Given the description of an element on the screen output the (x, y) to click on. 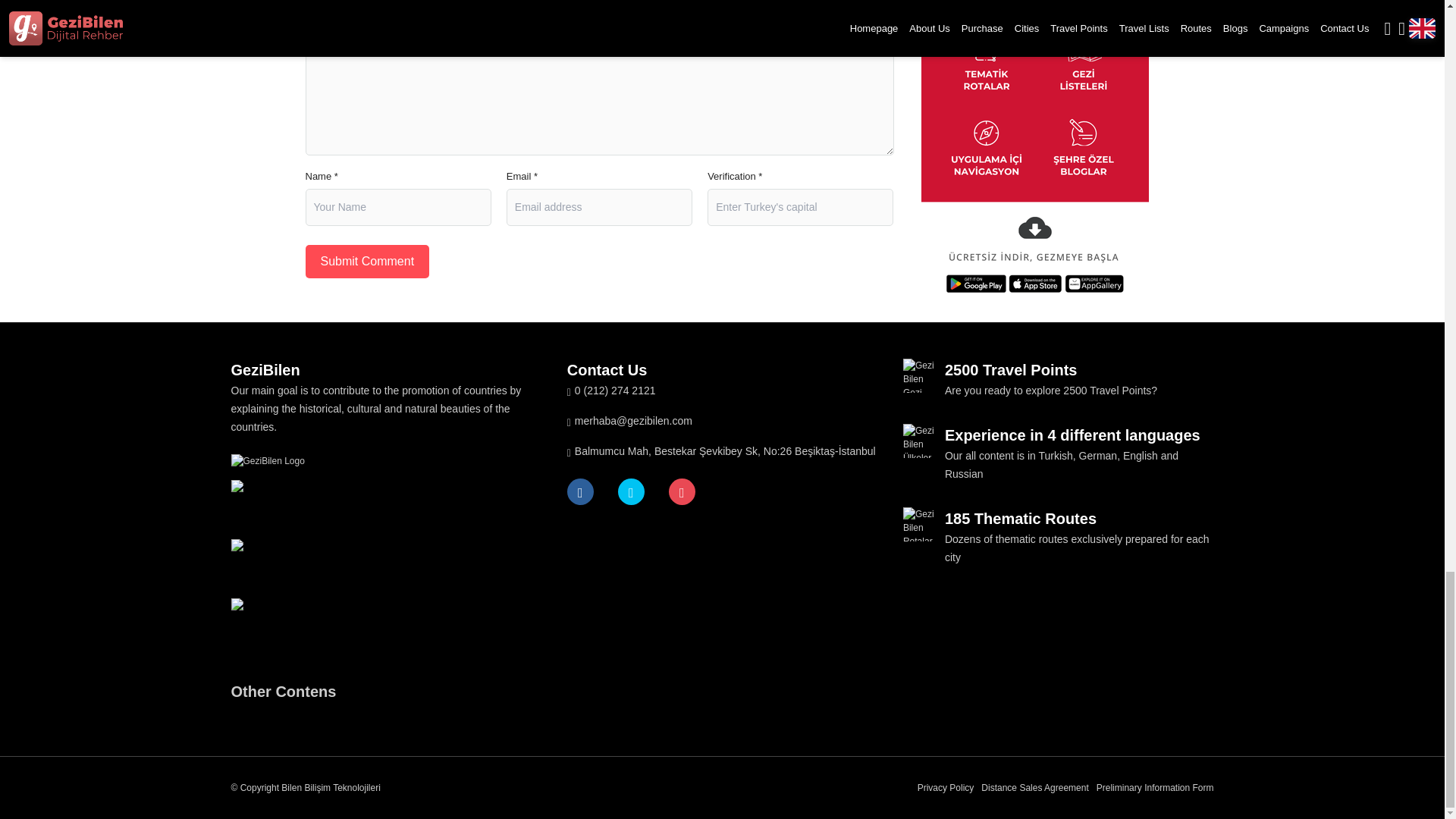
GeziBilen Appstore (385, 573)
GeziBilen Google Play (385, 508)
Submit Comment (366, 261)
GeziBilen (385, 460)
